Given the description of an element on the screen output the (x, y) to click on. 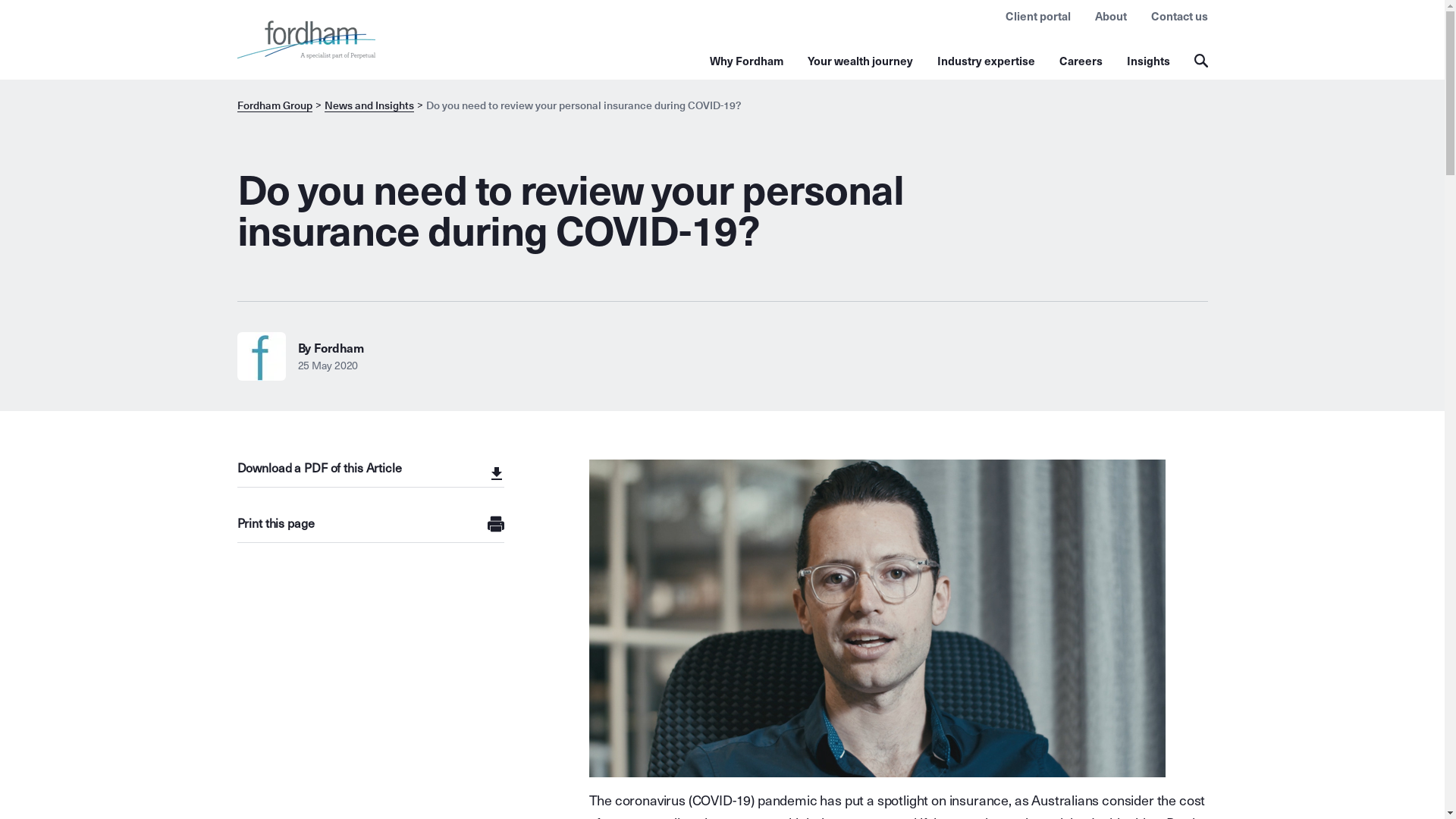
Insights Element type: text (1148, 61)
News and Insights Element type: text (369, 105)
Client portal Element type: text (1037, 15)
Careers Element type: text (1079, 61)
Industry expertise Element type: text (986, 61)
Download a PDF of this Article Element type: text (369, 473)
Fordham Group Element type: text (273, 105)
Why Fordham Element type: text (746, 61)
About Element type: text (1110, 15)
Your wealth journey Element type: text (859, 61)
Print this page Element type: text (369, 523)
Contact us Element type: text (1179, 15)
